Given the description of an element on the screen output the (x, y) to click on. 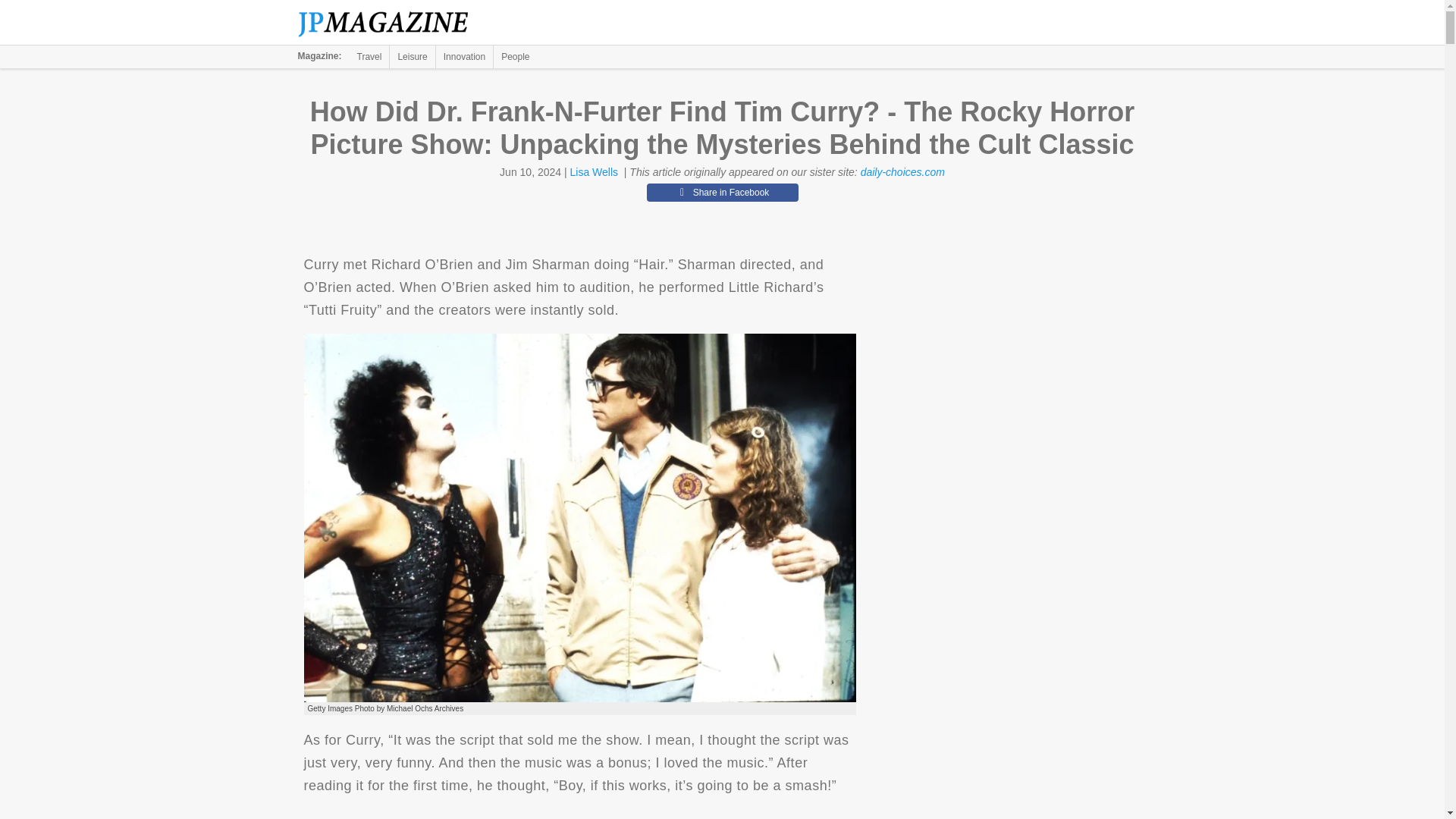
The Jerusalem Post Magazine (391, 22)
Travel (369, 56)
Share in Facebook (721, 192)
Innovation (464, 56)
daily-choices.com (902, 172)
Leisure (411, 56)
Lisa Wells (594, 172)
People (515, 56)
